Given the description of an element on the screen output the (x, y) to click on. 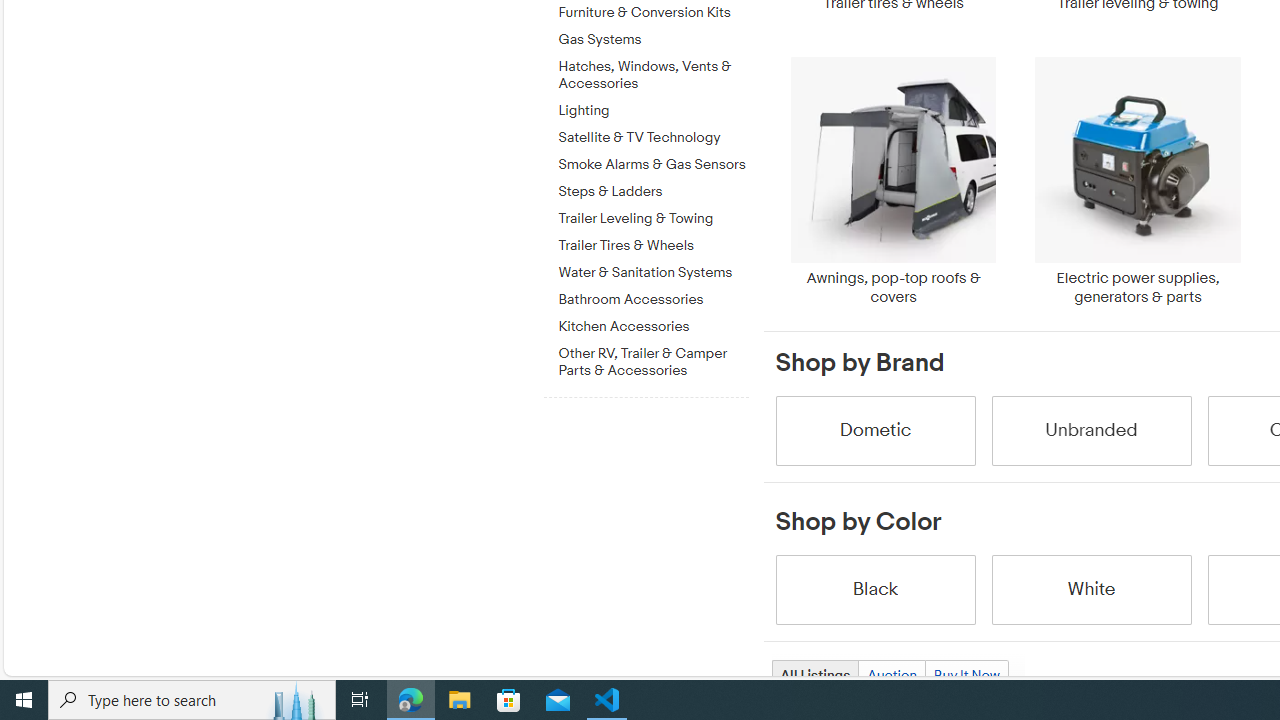
Water & Sanitation Systems (653, 269)
Electric power supplies, generators & parts (1137, 181)
White (1090, 588)
Awnings, pop-top roofs & covers (893, 181)
Water & Sanitation Systems (653, 273)
Steps & Ladders (653, 192)
Smoke Alarms & Gas Sensors (653, 165)
White (1090, 588)
Unbranded (1090, 430)
Gas Systems (653, 36)
Other RV, Trailer & Camper Parts & Accessories (653, 362)
Electric power supplies, generators & parts (1137, 181)
Kitchen Accessories (653, 327)
Lighting (653, 107)
Smoke Alarms & Gas Sensors (653, 161)
